Given the description of an element on the screen output the (x, y) to click on. 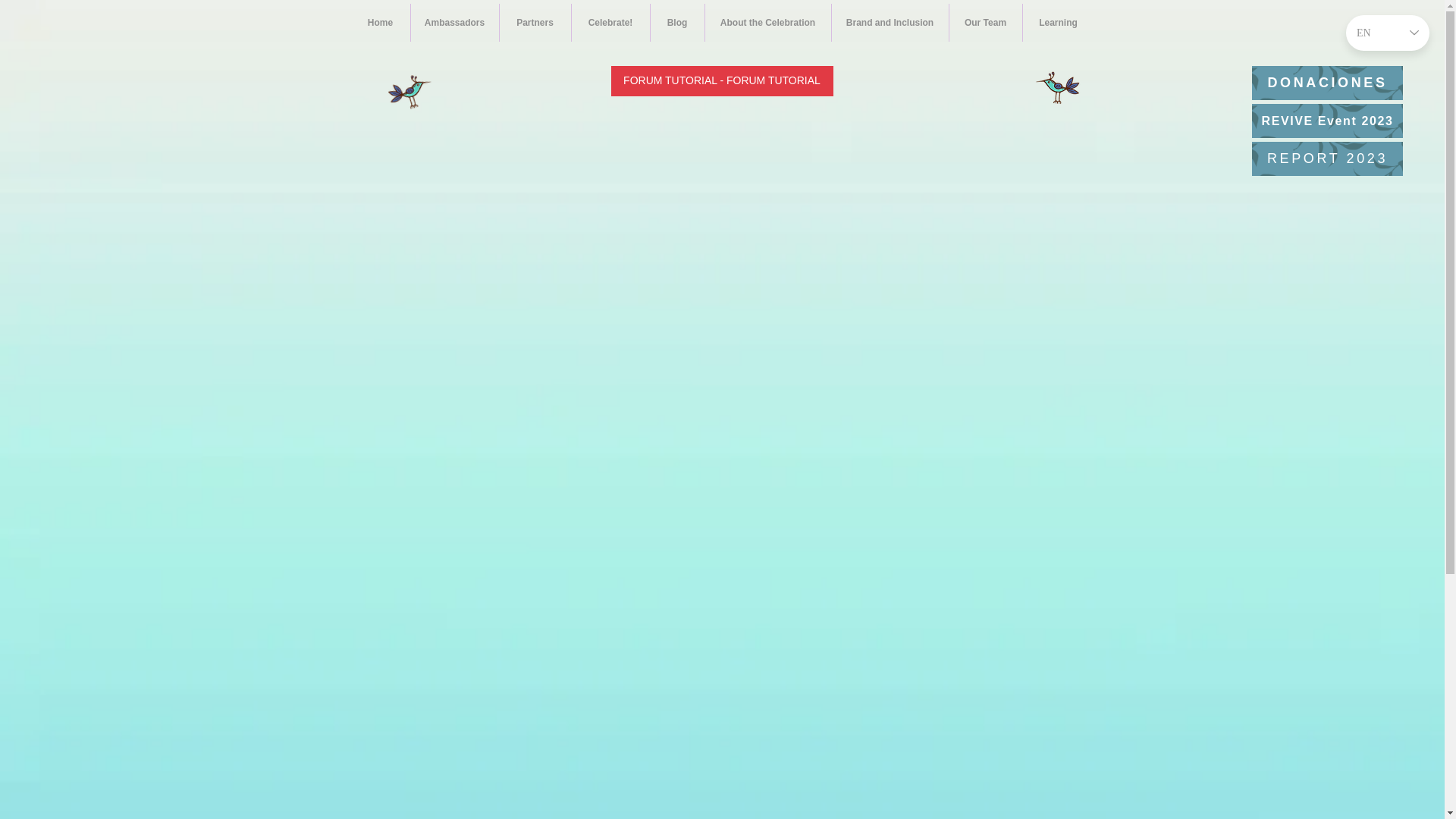
DONACIONES (1327, 82)
Blog (677, 22)
Ambassadors (454, 22)
REPORT 2023 (1327, 158)
Celebrate! (610, 22)
REVIVE Event 2023 (1327, 121)
Learning (1057, 22)
Our Team (985, 22)
Partners (534, 22)
Brand and Inclusion (889, 22)
FORUM TUTORIAL - FORUM TUTORIAL (721, 81)
Home (379, 22)
About the Celebration (767, 22)
